Given the description of an element on the screen output the (x, y) to click on. 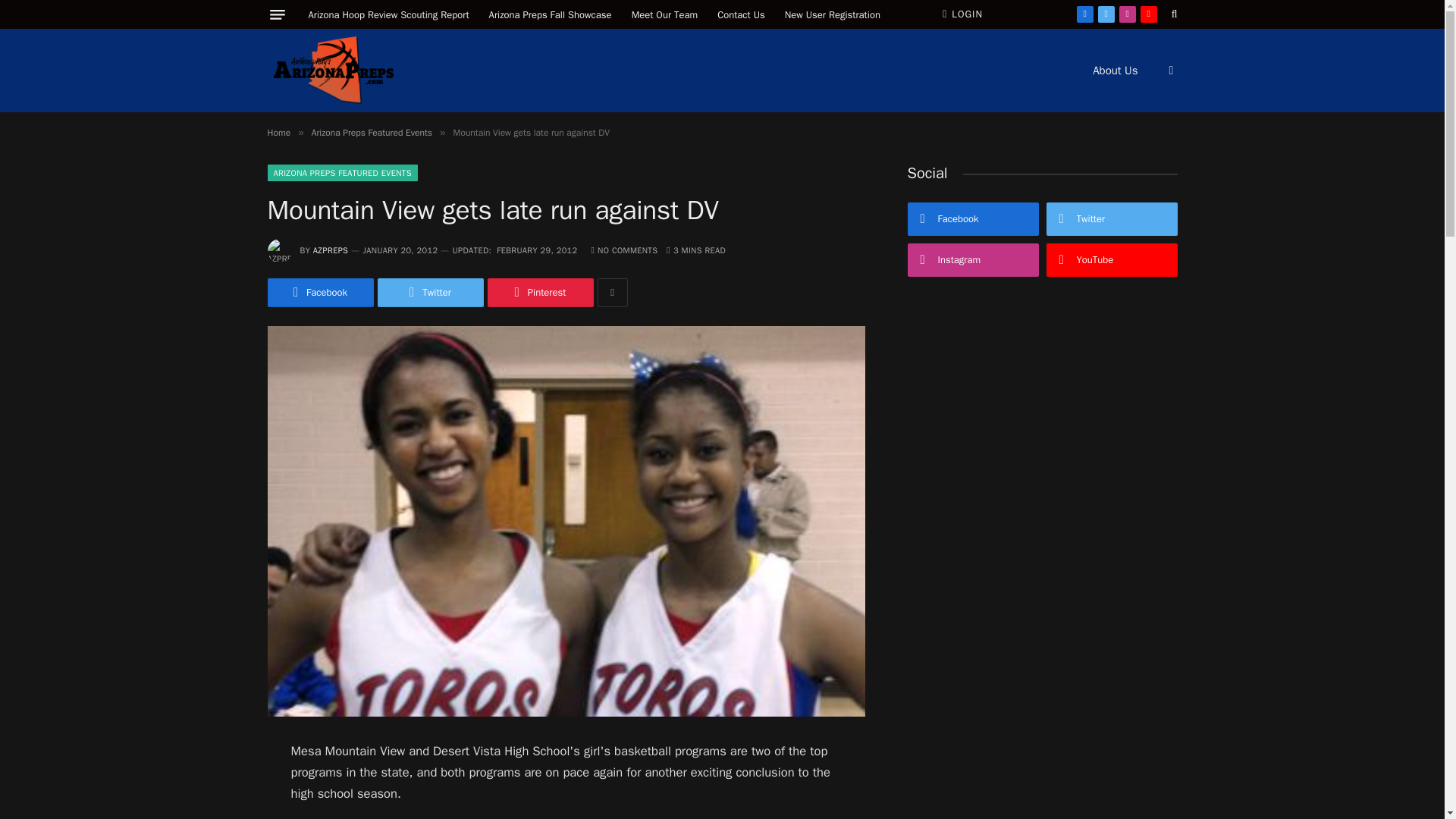
NO COMMENTS (624, 249)
YouTube (1148, 13)
Pinterest (539, 292)
Facebook (319, 292)
Facebook (1085, 13)
Arizona Preps Featured Events (371, 132)
Instagram (1127, 13)
Arizona Preps Fall Showcase (550, 14)
Meet Our Team (664, 14)
Twitter (430, 292)
LOGIN (962, 14)
Arizona Hoop Review Scouting Report (388, 14)
Contact Us (740, 14)
Switch to Light Design. (1168, 70)
Home (277, 132)
